Given the description of an element on the screen output the (x, y) to click on. 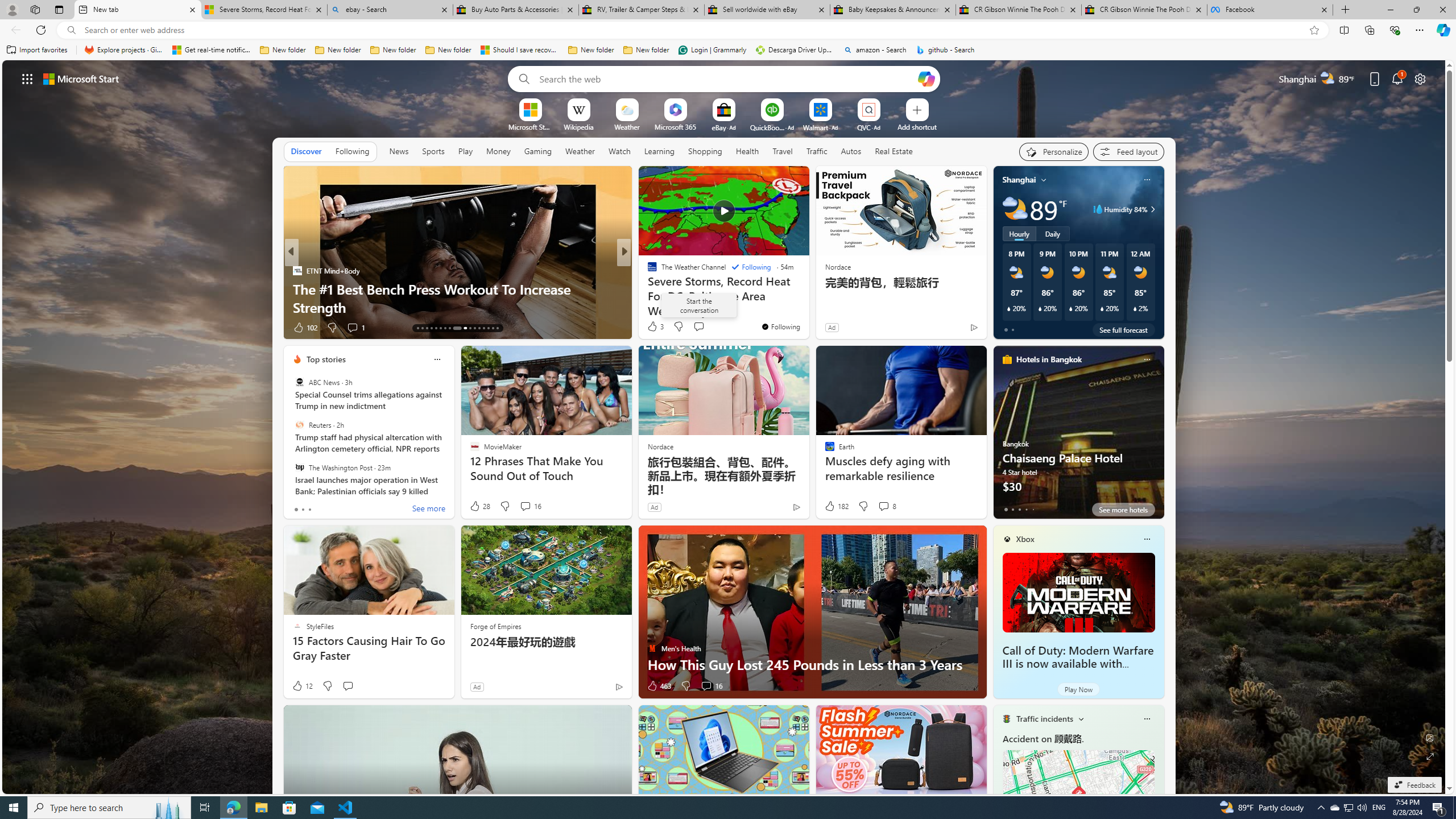
102 Like (304, 327)
AutomationID: tab-20 (449, 328)
Login | Grammarly (712, 49)
463 Like (658, 685)
AutomationID: tab-14 (422, 328)
Edit Background (1430, 737)
Personalize your feed" (1054, 151)
